Given the description of an element on the screen output the (x, y) to click on. 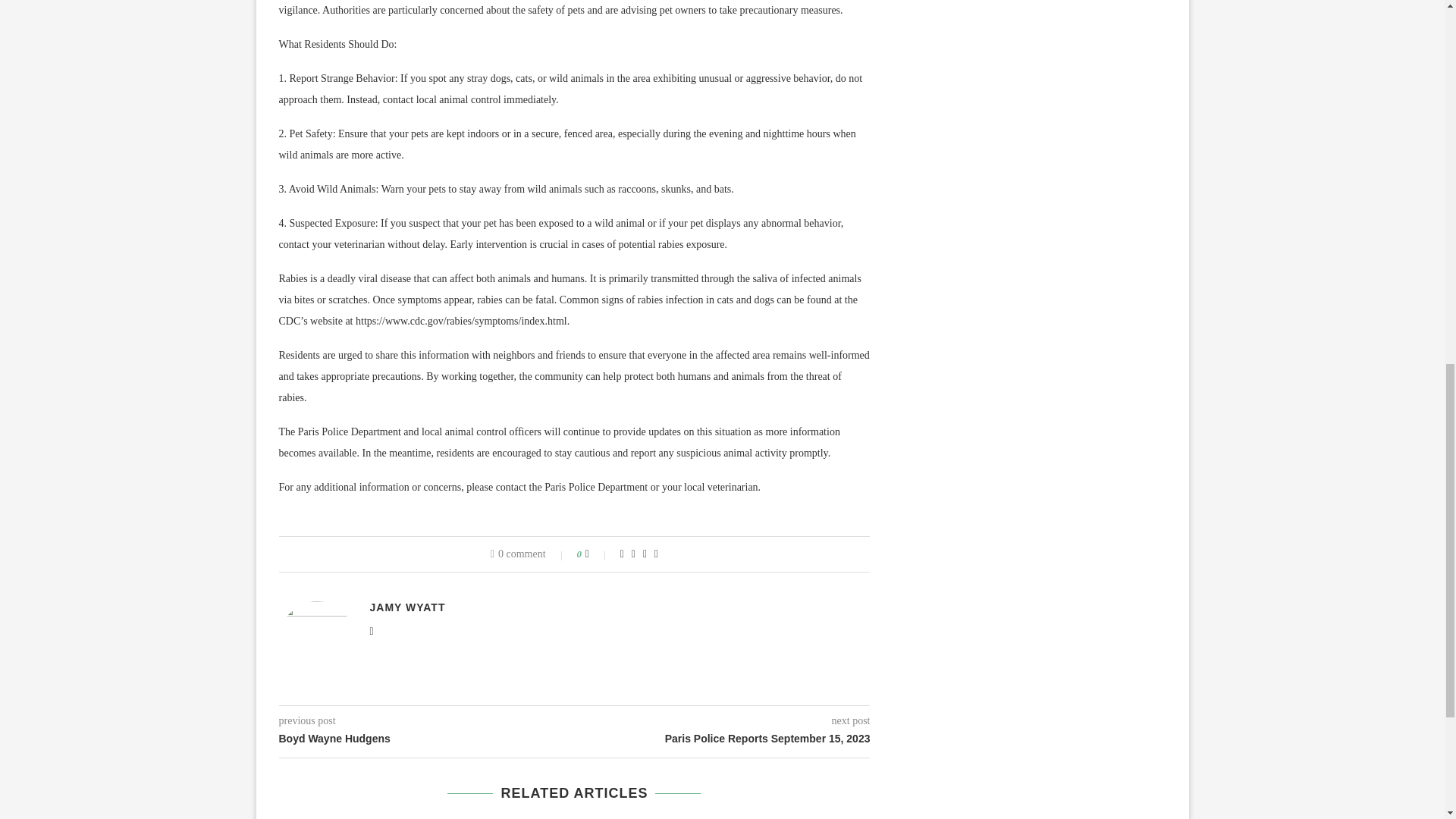
Like (597, 553)
Posts by Jamy Wyatt (407, 607)
